Given the description of an element on the screen output the (x, y) to click on. 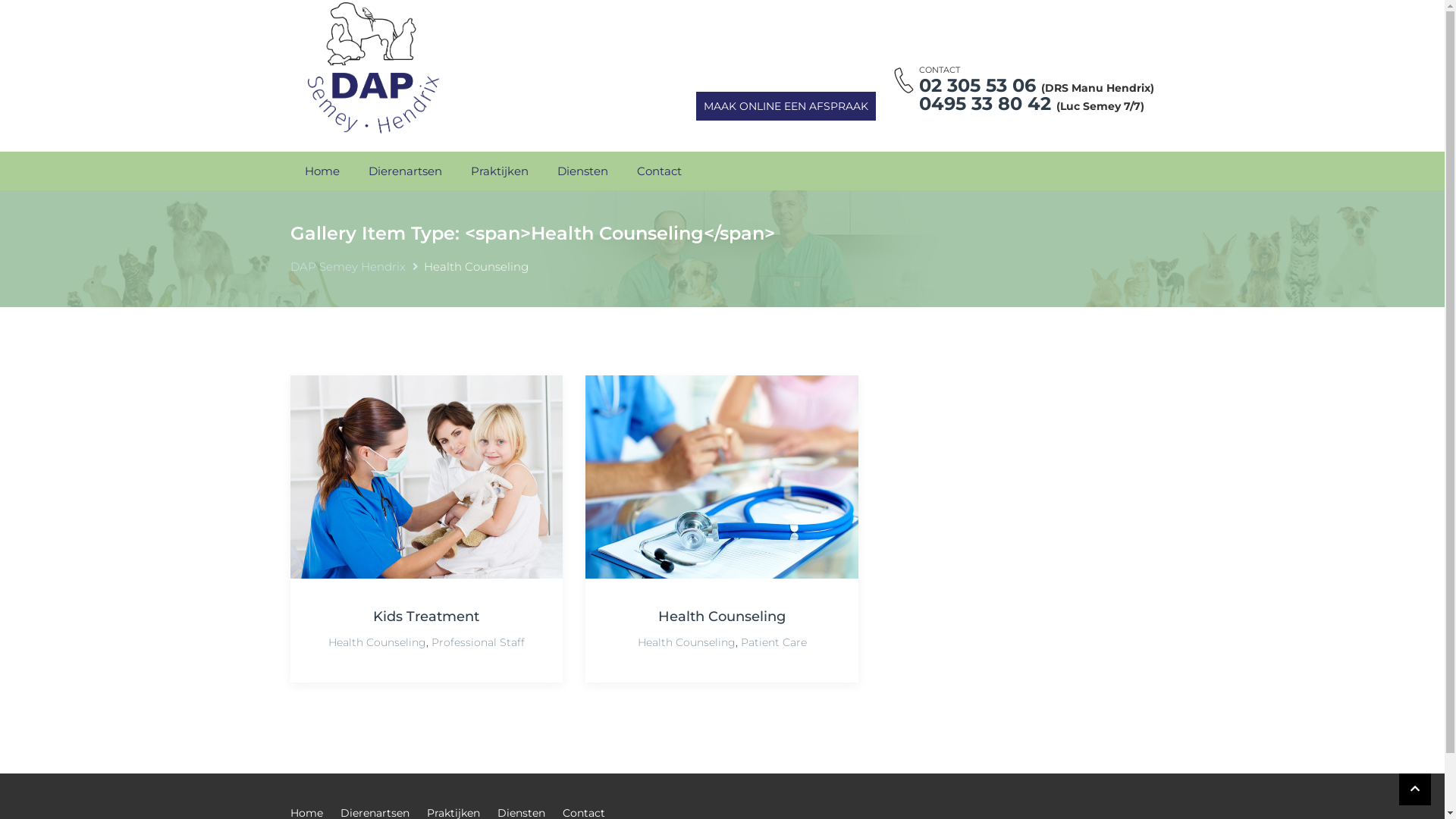
Contact Element type: text (658, 170)
Health Counseling Element type: text (686, 642)
Diensten Element type: text (582, 170)
Professional Staff Element type: text (477, 642)
MAAK ONLINE EEN AFSPRAAK Element type: text (785, 105)
Health Counseling Element type: text (377, 642)
02 305 53 06 Element type: text (977, 85)
Praktijken Element type: text (499, 170)
Health Counseling Element type: text (721, 616)
Dierenartsen Element type: text (404, 170)
0495 33 80 42 Element type: text (985, 103)
DAP Semey Hendrix Element type: text (346, 266)
Patient Care Element type: text (773, 642)
Kids Treatment Element type: text (426, 616)
Home Element type: text (321, 170)
